Given the description of an element on the screen output the (x, y) to click on. 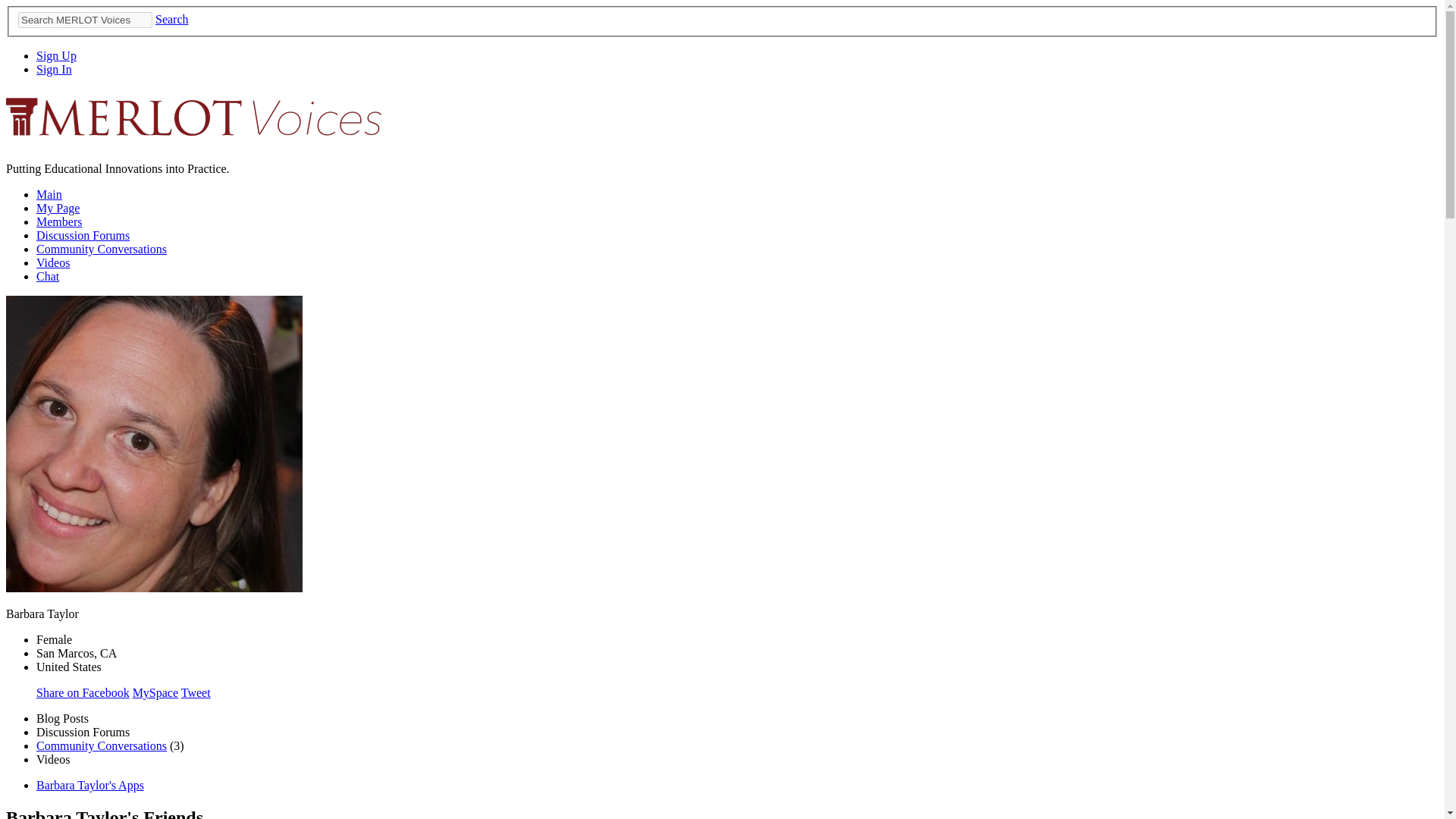
Sign Up (56, 55)
Tweet (195, 692)
Videos (52, 262)
Members (58, 221)
MySpace (154, 692)
Discussion Forums (82, 235)
Search MERLOT Voices (84, 19)
My Page (58, 207)
Community Conversations (101, 248)
Search MERLOT Voices (84, 19)
Share on Facebook (82, 692)
Main (49, 194)
Chat (47, 276)
Barbara Taylor's Apps (90, 784)
Sign In (53, 69)
